Given the description of an element on the screen output the (x, y) to click on. 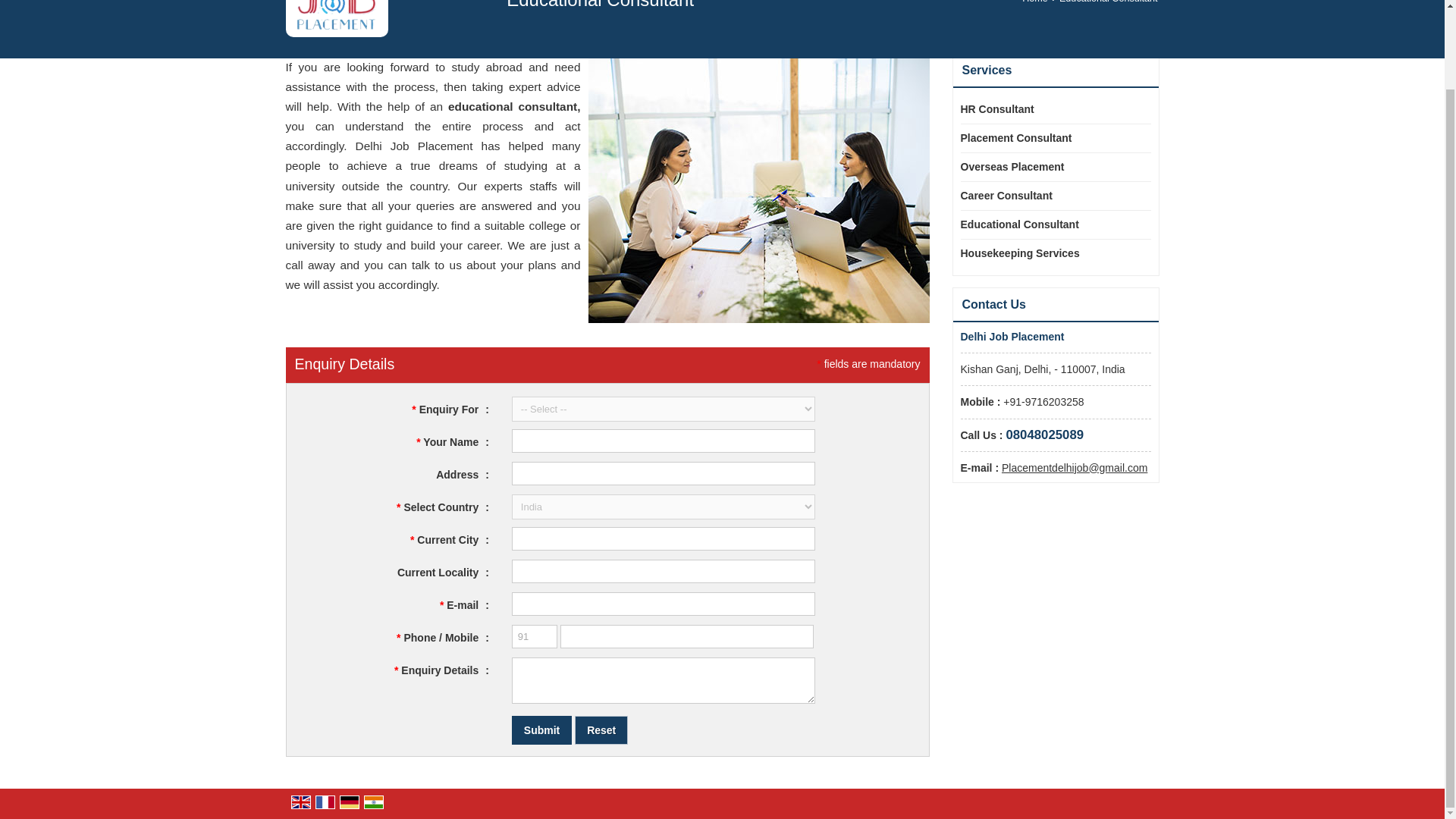
Housekeeping Services (1048, 253)
Educational Consultant (1048, 224)
Submit (542, 729)
Career Consultant (1048, 195)
91 (534, 636)
Delhi Job Placement (337, 14)
Placement Consultant (1048, 138)
Home (1035, 2)
Reset (601, 729)
Submit (542, 729)
Overseas Placement (1048, 166)
HR Consultant (1048, 109)
